Given the description of an element on the screen output the (x, y) to click on. 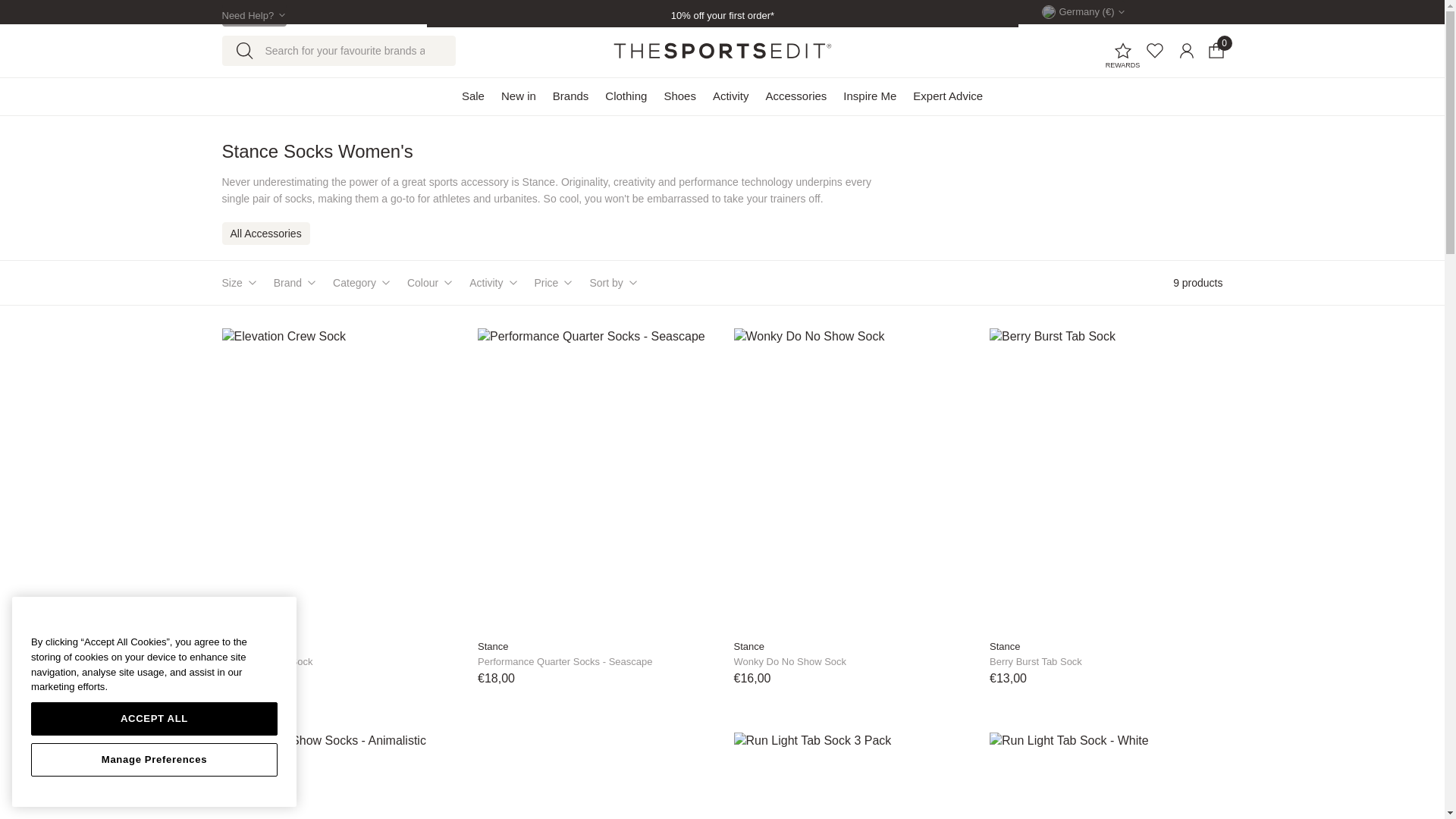
The Sports Edit (721, 50)
Need Help? (253, 15)
Skip to content (22, 7)
